Given the description of an element on the screen output the (x, y) to click on. 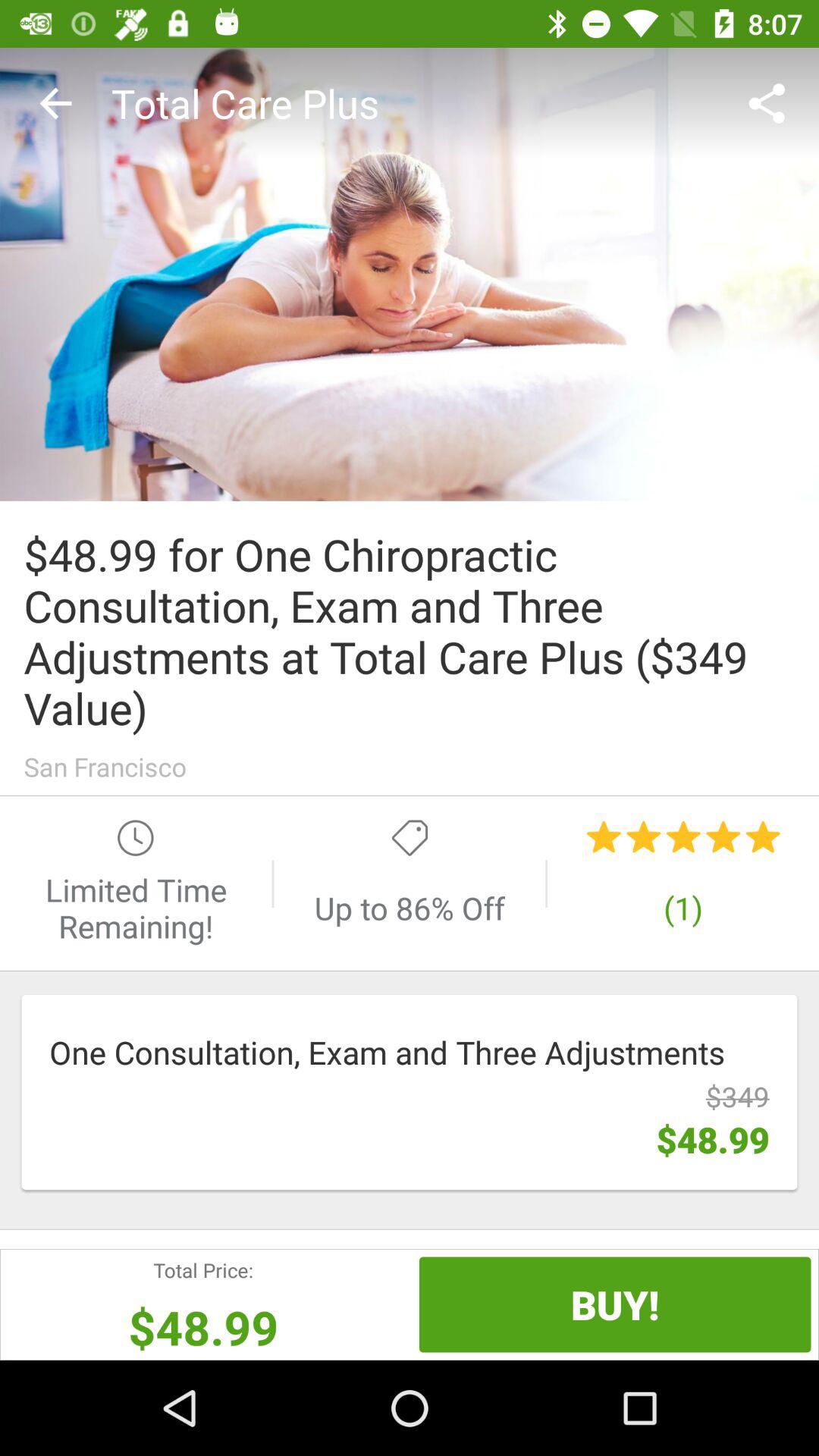
go to this advertisement (409, 274)
